Given the description of an element on the screen output the (x, y) to click on. 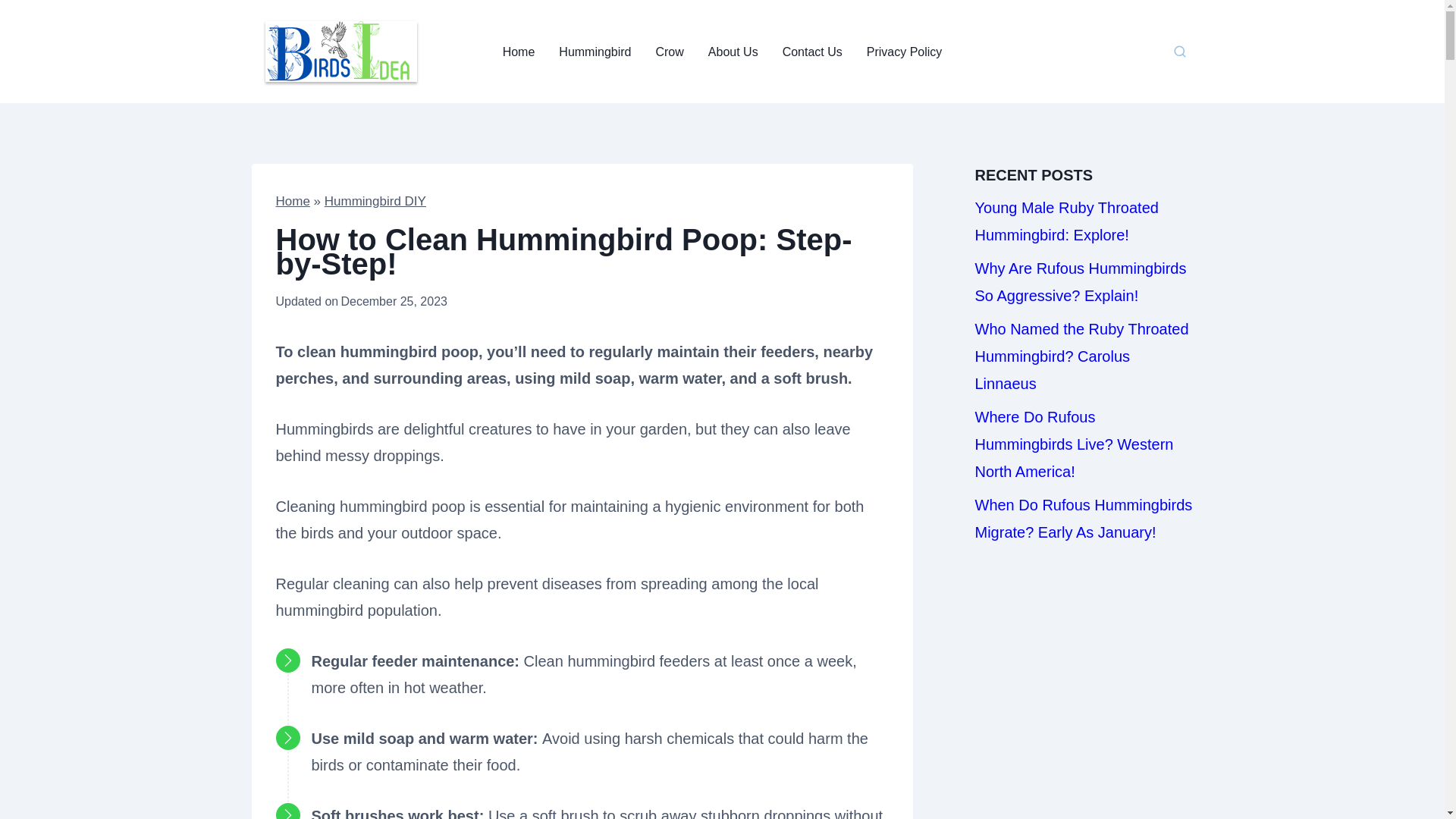
Hummingbird DIY (375, 201)
Home (518, 51)
Crow (669, 51)
Privacy Policy (904, 51)
Hummingbird (595, 51)
About Us (732, 51)
Home (293, 201)
Contact Us (812, 51)
